Given the description of an element on the screen output the (x, y) to click on. 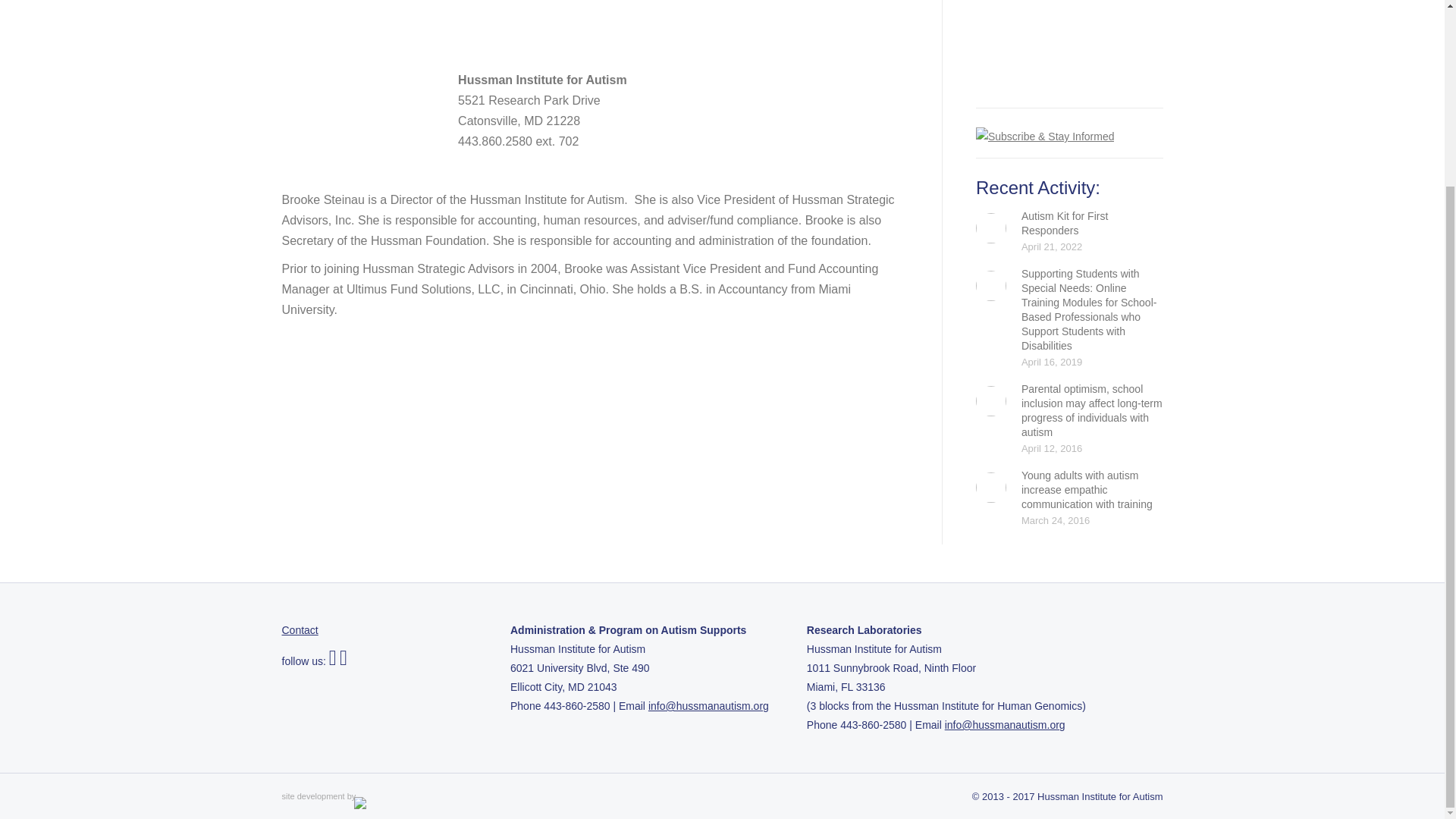
Institute (346, 34)
Autism Kit for First Responders (1092, 223)
Contact (300, 630)
